Given the description of an element on the screen output the (x, y) to click on. 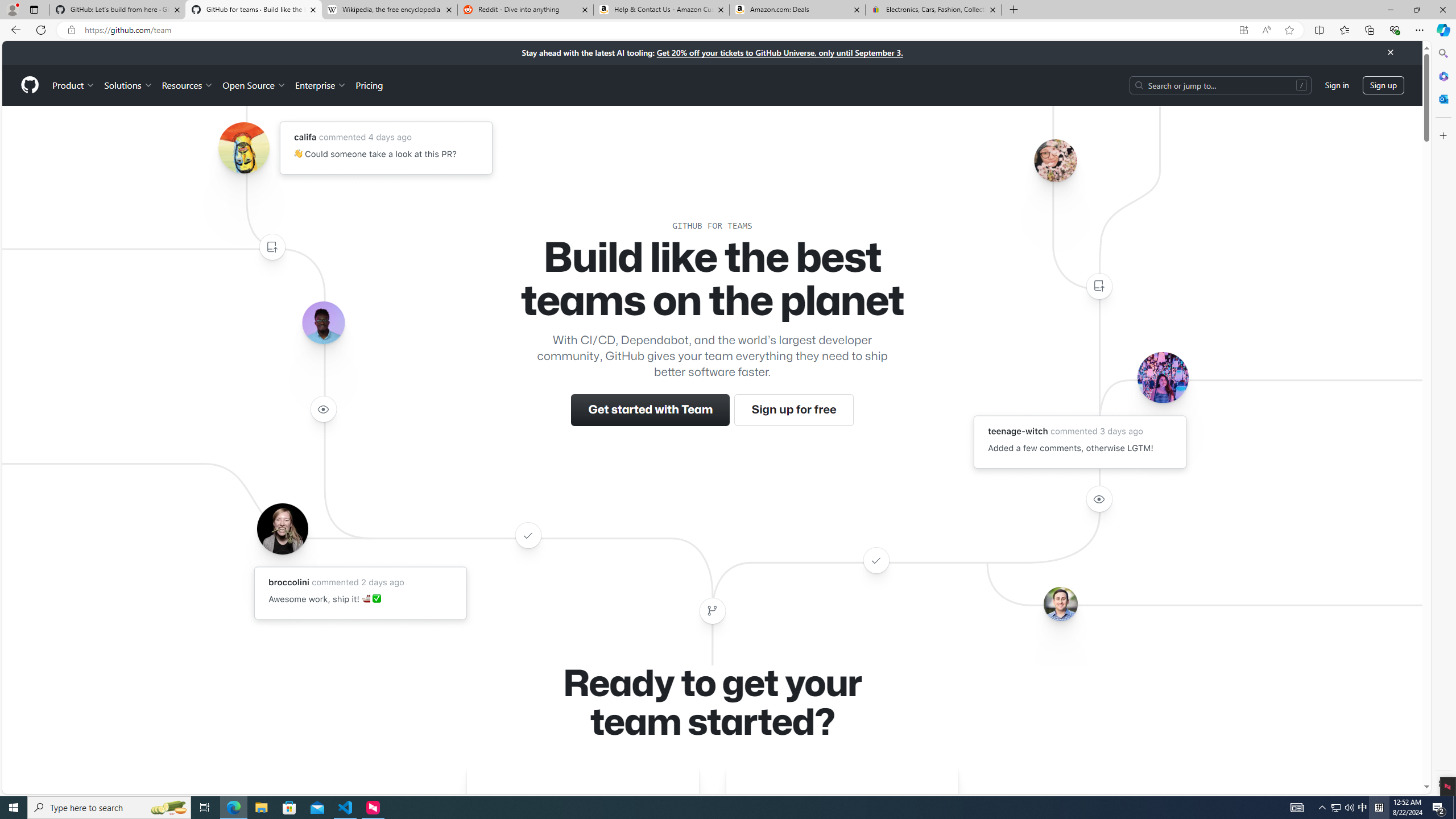
Sign up (1382, 84)
